Given the description of an element on the screen output the (x, y) to click on. 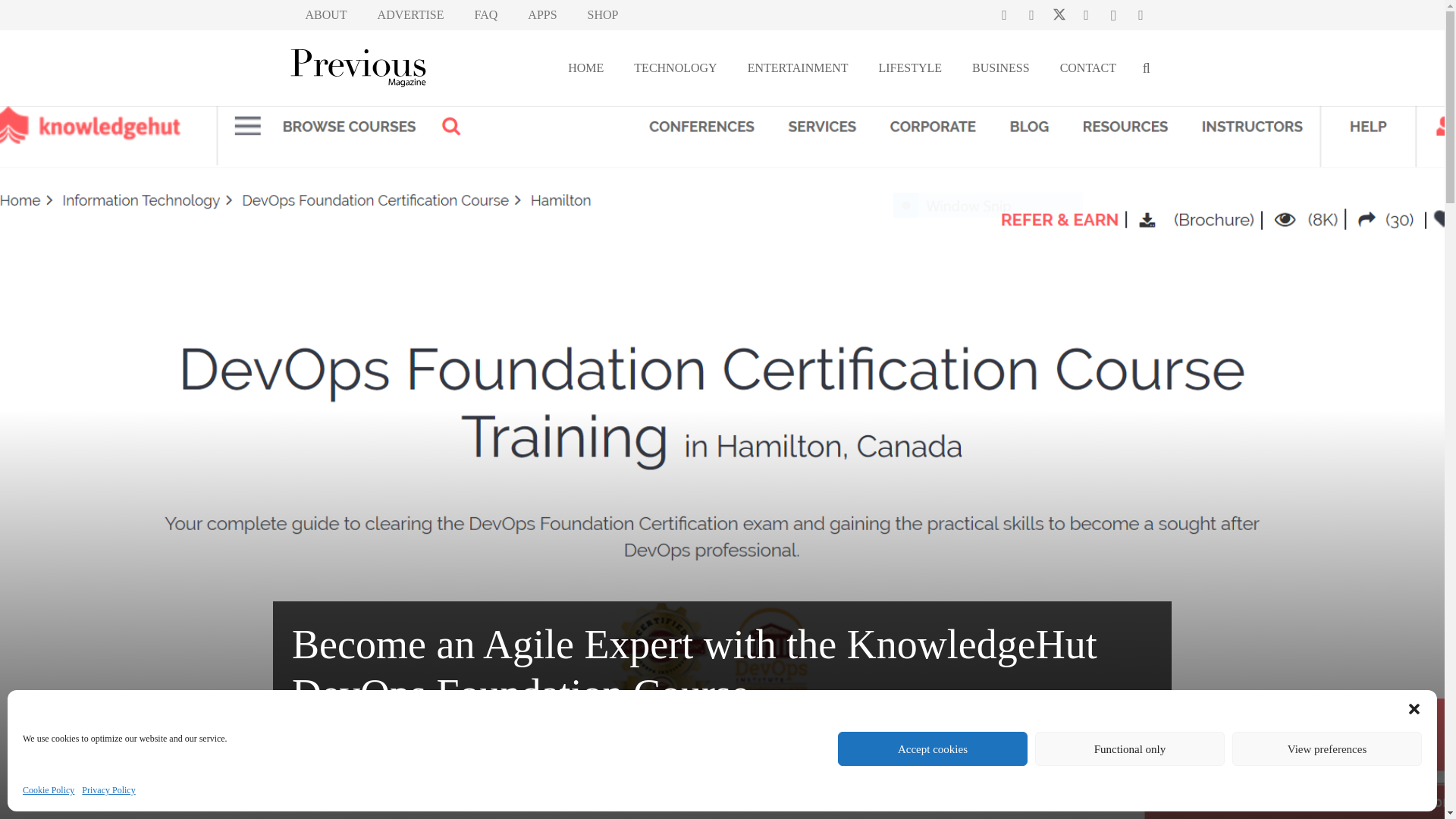
ABOUT (325, 15)
FAQ (486, 15)
SHOP (602, 15)
Cookie Policy (48, 790)
Twitter (1059, 14)
Facebook (1031, 14)
RSS (1140, 14)
Privacy Policy (108, 790)
TECHNOLOGY (675, 67)
ADVERTISE (411, 15)
HOME (585, 67)
Instagram (1113, 14)
LinkedIn (1086, 14)
Functional only (1129, 748)
Accept cookies (932, 748)
